Given the description of an element on the screen output the (x, y) to click on. 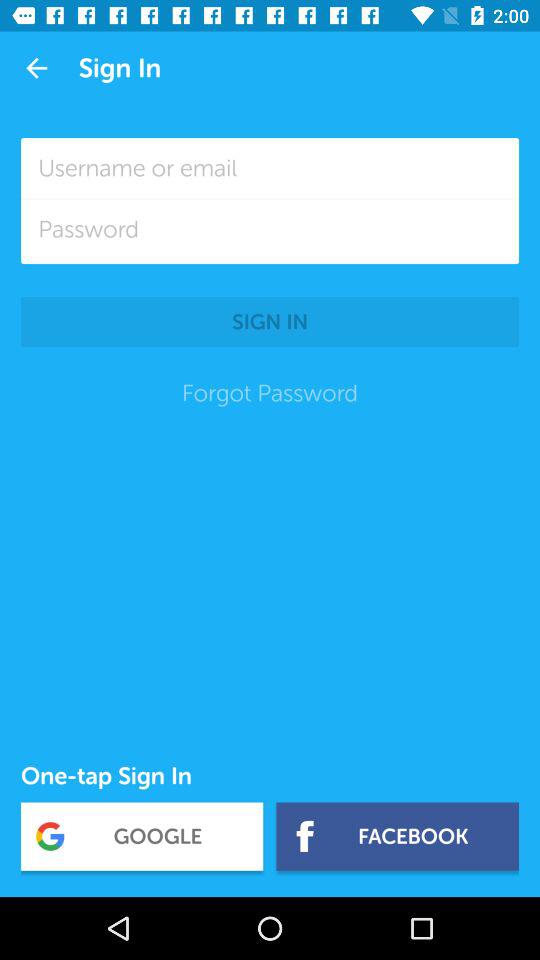
enter username or email (270, 168)
